Given the description of an element on the screen output the (x, y) to click on. 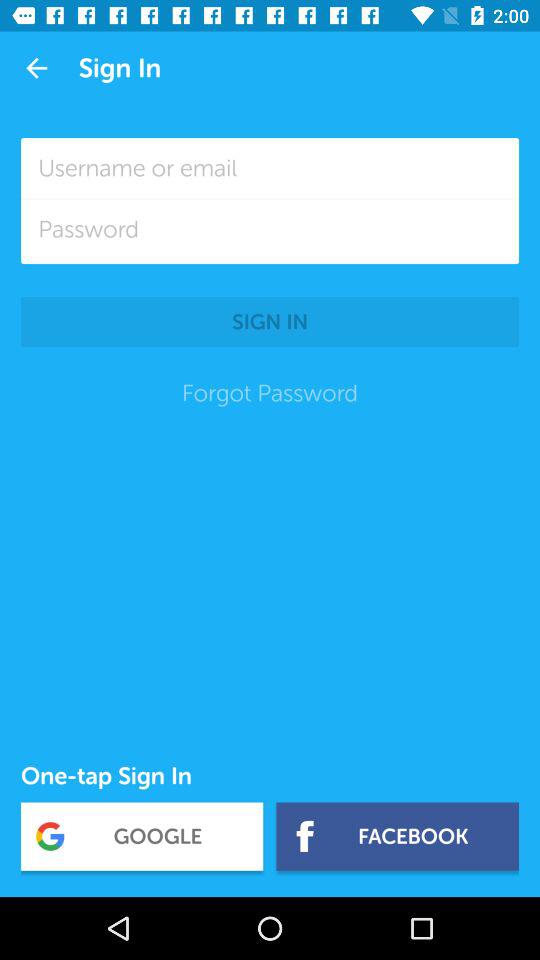
enter username or email (270, 168)
